Given the description of an element on the screen output the (x, y) to click on. 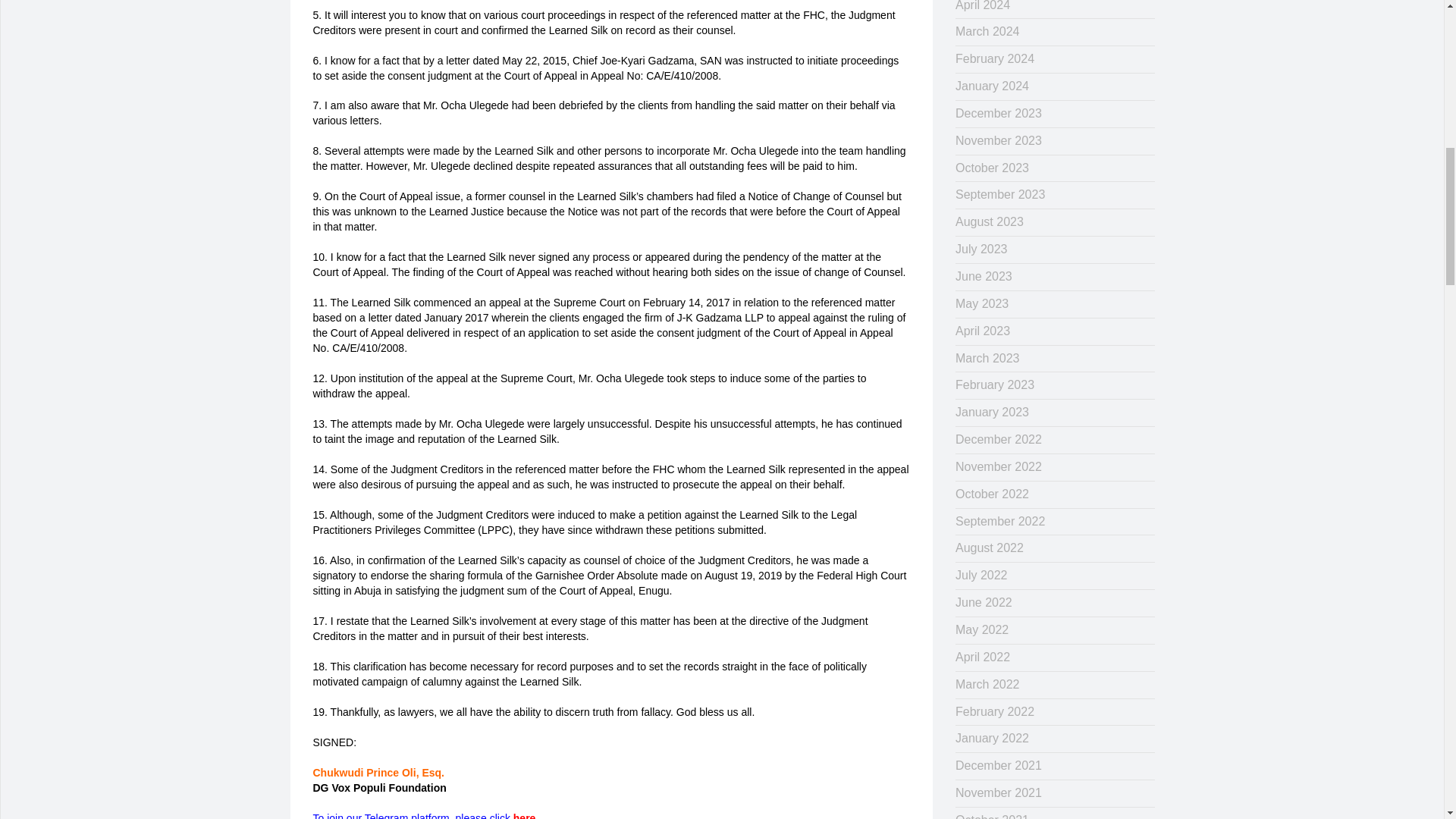
here (524, 815)
